Given the description of an element on the screen output the (x, y) to click on. 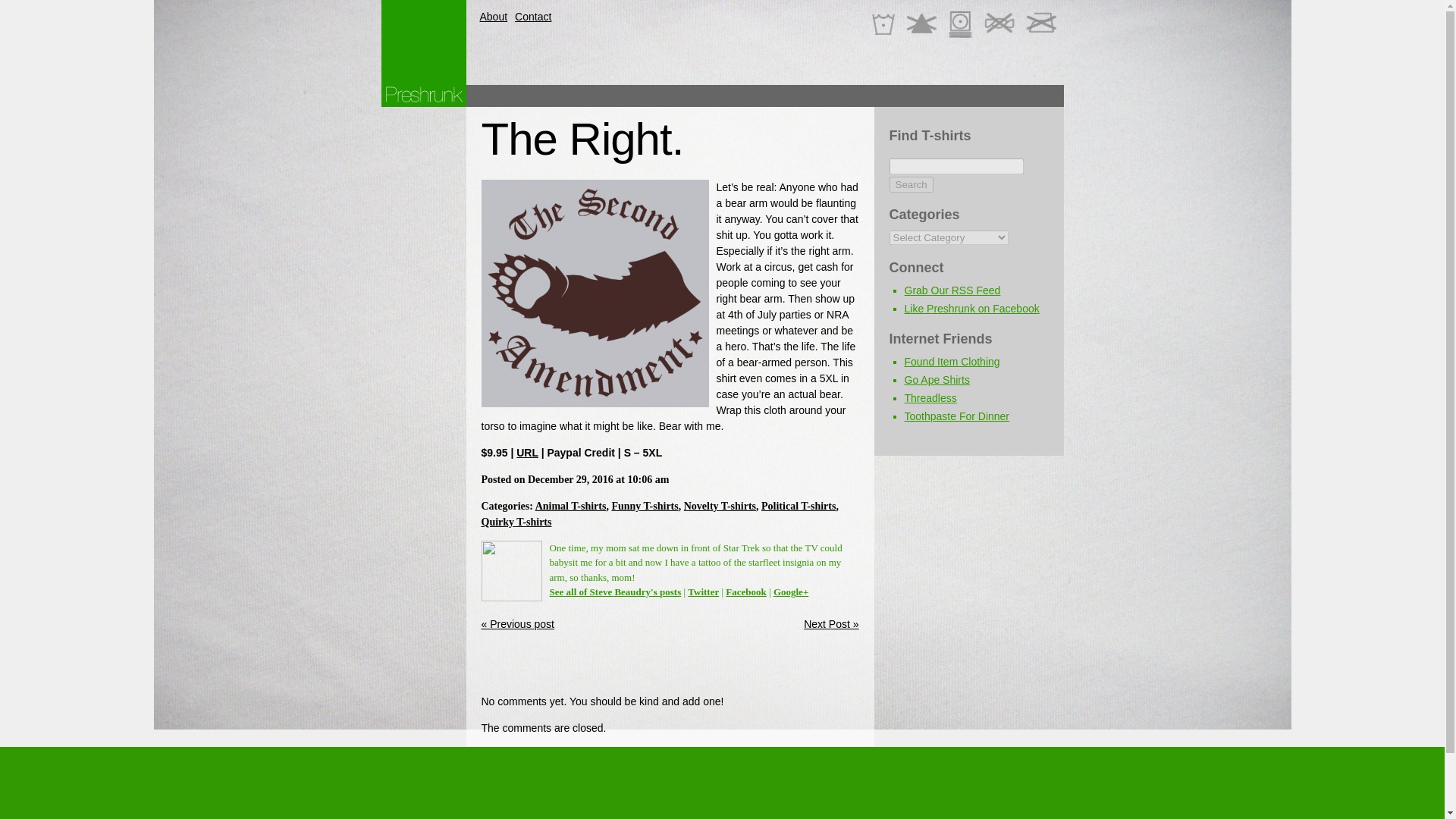
Like Preshrunk on Facebook (971, 308)
Found Item Clothing (951, 361)
See all of Steve Beaudry's posts (614, 591)
Advertisement (786, 95)
Advertisement (657, 665)
URL (527, 452)
Go Ape Shirts (936, 379)
Funny T-shirts (644, 505)
The Right. (581, 138)
Novelty T-shirts (719, 505)
